Given the description of an element on the screen output the (x, y) to click on. 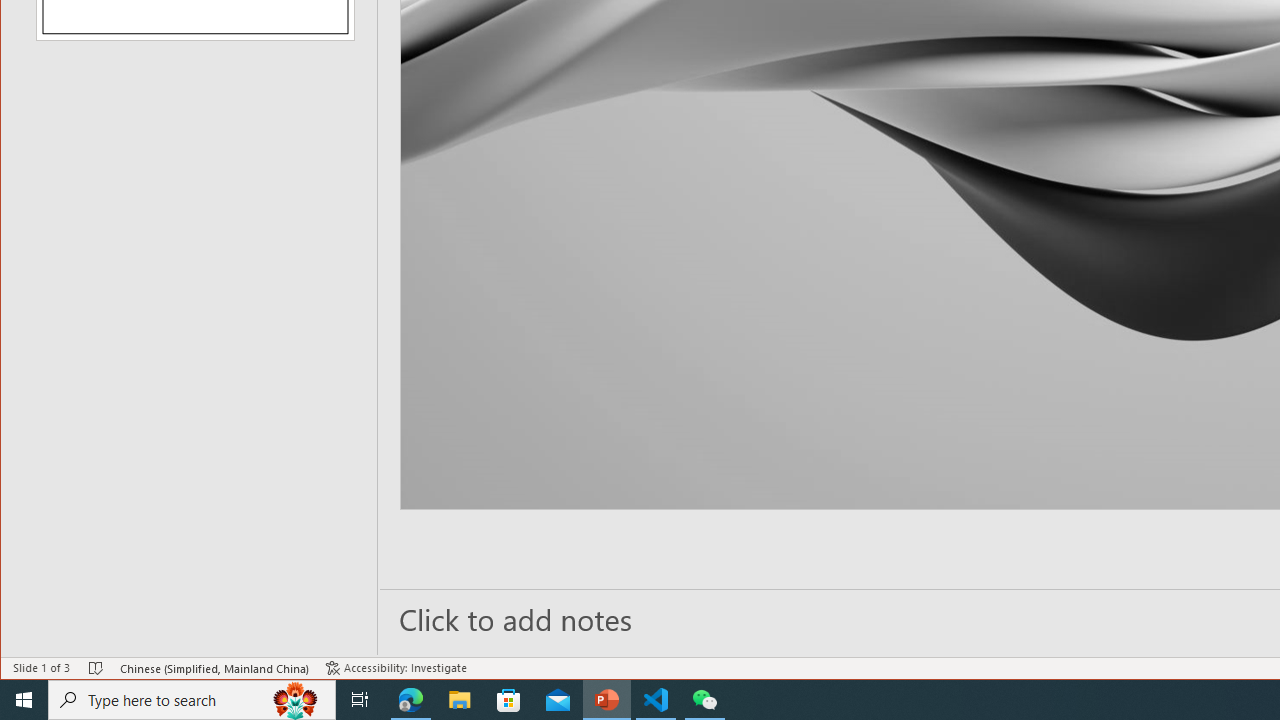
WeChat - 1 running window (704, 699)
